Given the description of an element on the screen output the (x, y) to click on. 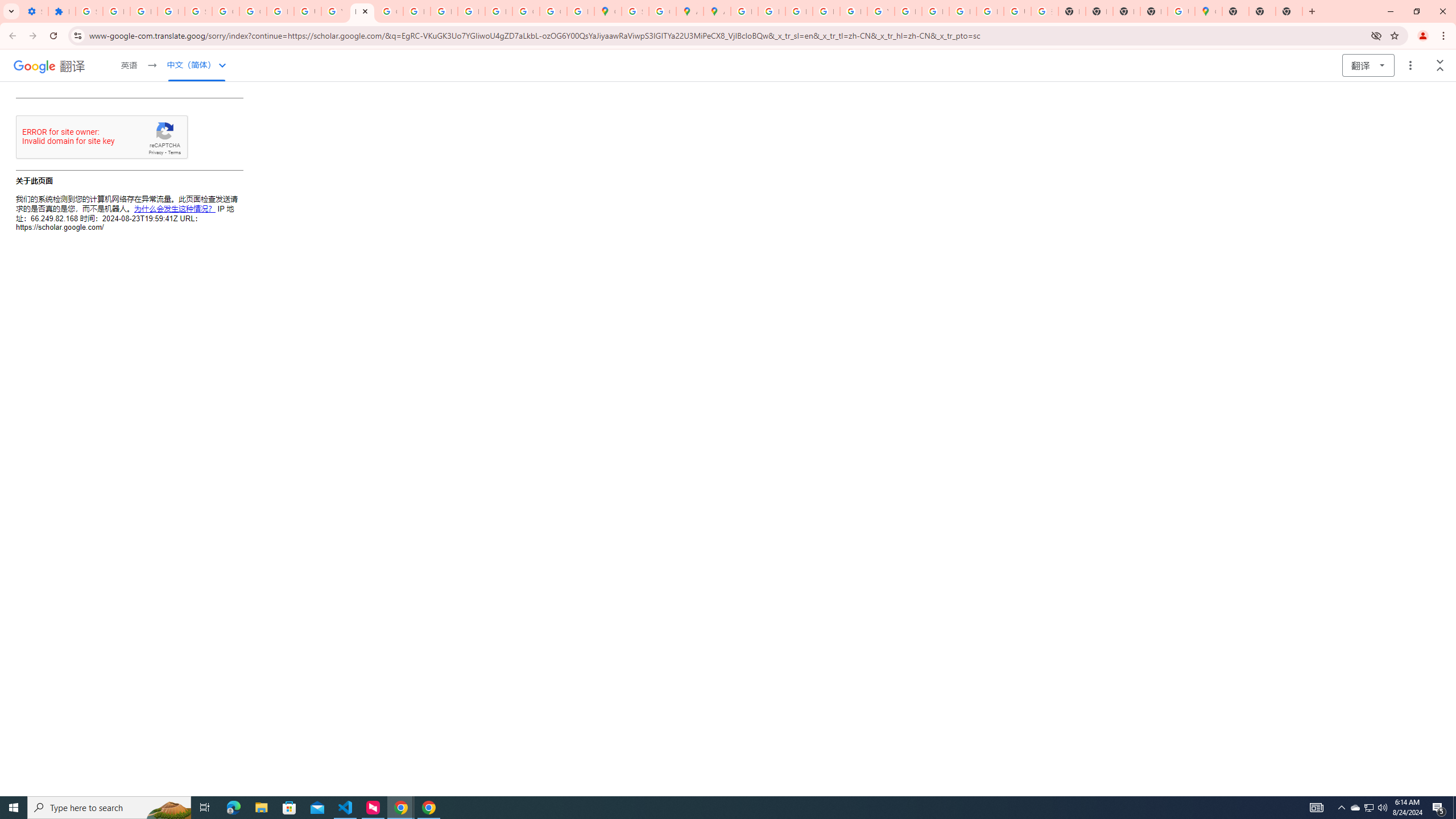
New Tab (1235, 11)
https://scholar.google.com/ (362, 11)
Privacy Help Center - Policies Help (416, 11)
Create your Google Account (662, 11)
Settings - On startup (34, 11)
